Given the description of an element on the screen output the (x, y) to click on. 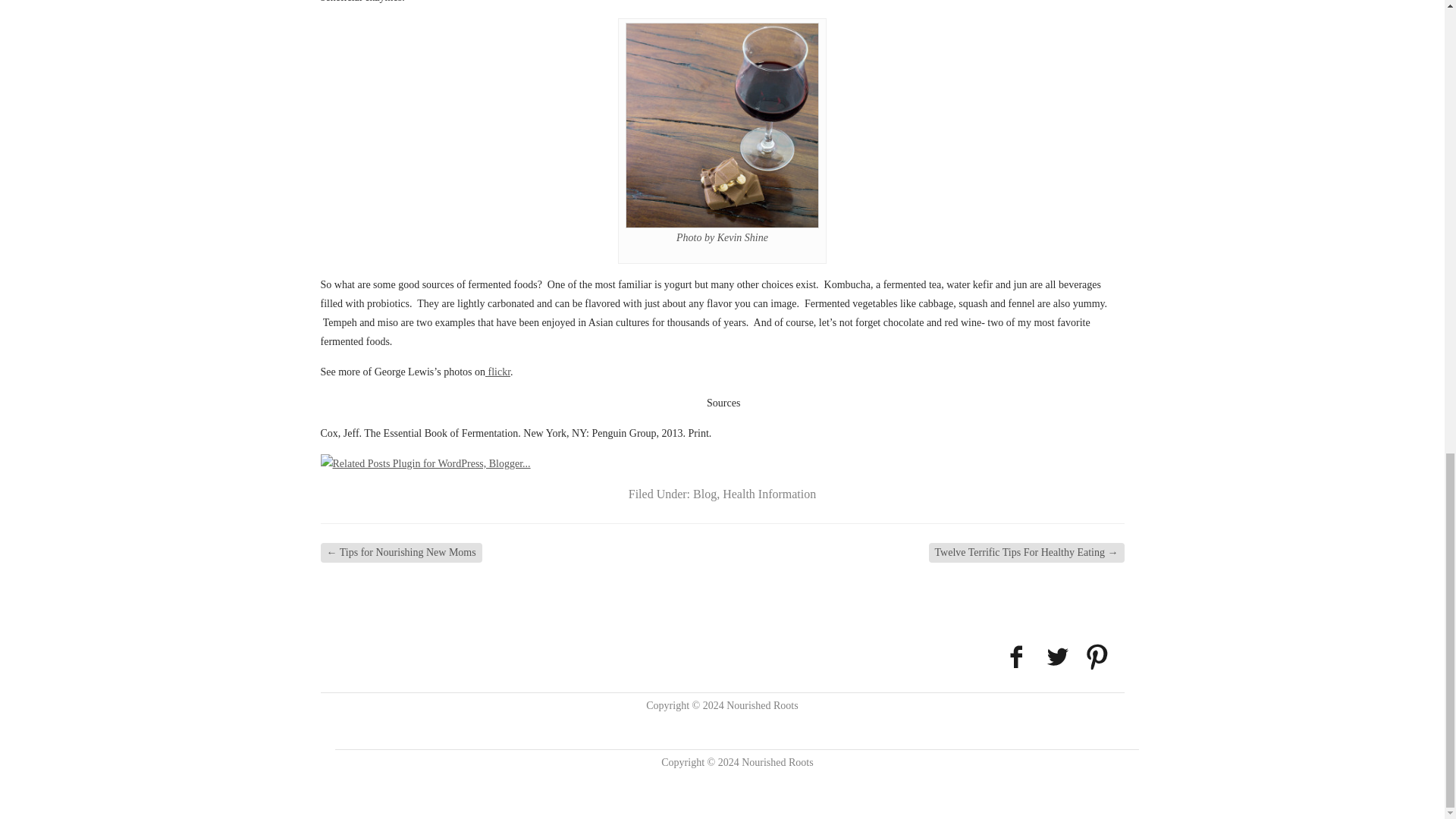
flickr (497, 371)
Health Information (768, 493)
Blog (704, 493)
